Given the description of an element on the screen output the (x, y) to click on. 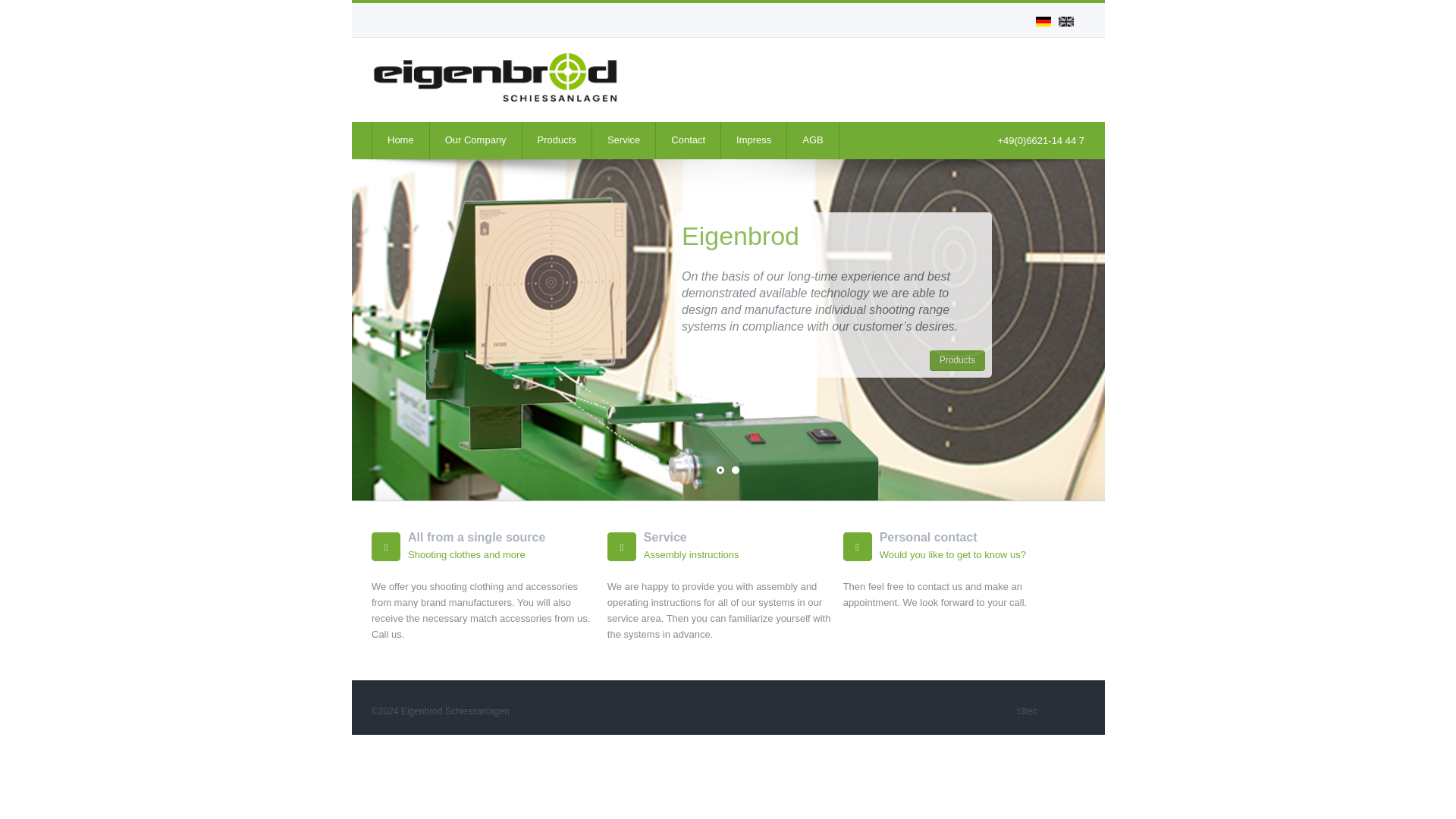
Home (400, 140)
Impress (753, 140)
Our Company (475, 140)
All from a single source (475, 536)
Service (623, 140)
AGB (812, 140)
Personal contact (927, 536)
Impress (753, 140)
Contact (687, 140)
Brakmann Software (1027, 711)
